Given the description of an element on the screen output the (x, y) to click on. 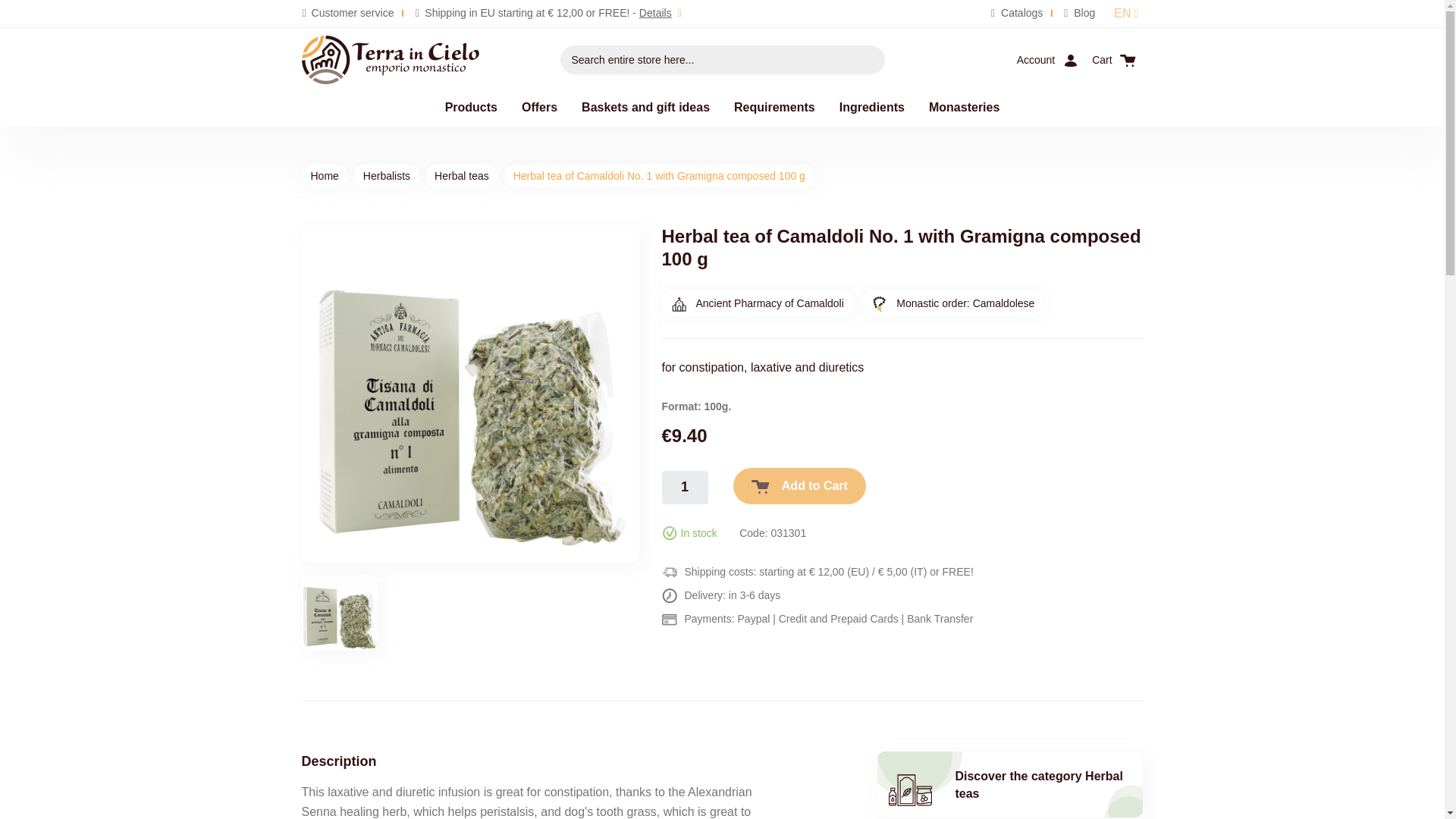
Home (324, 175)
1 (684, 487)
Ingredients (872, 106)
Ancient Pharmacy of Camaldoli (756, 302)
Herbal teas (461, 175)
Offers (539, 106)
Go to Home Page (324, 175)
Blog (1079, 12)
Monastic order: Camaldolese (952, 302)
Account (1048, 60)
Qty (684, 487)
Add to Cart (799, 485)
Discover the category Herbal teas (1009, 784)
Herbal tea of Camaldoli No. 1 with Gramigna composed 100 g (470, 393)
Tisana di Camaldoli alla Gramigna (339, 612)
